Given the description of an element on the screen output the (x, y) to click on. 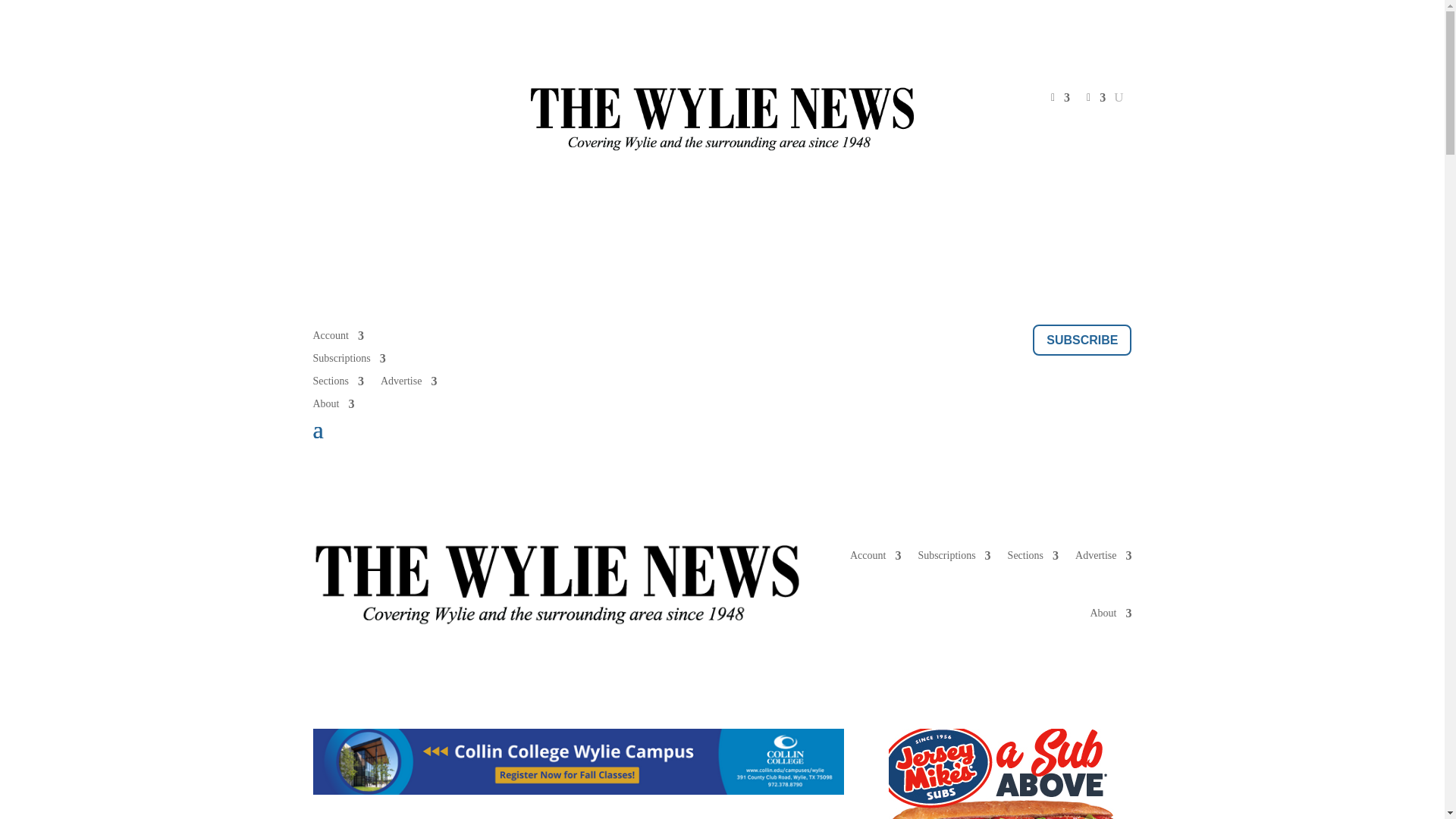
Obituaries (774, 338)
Follow on Instagram (384, 98)
Sections (337, 384)
Latest (497, 338)
Subscriptions (349, 361)
Advertise (408, 384)
Education (593, 338)
Account (337, 338)
Follow on X (354, 98)
Opinion (648, 338)
